Given the description of an element on the screen output the (x, y) to click on. 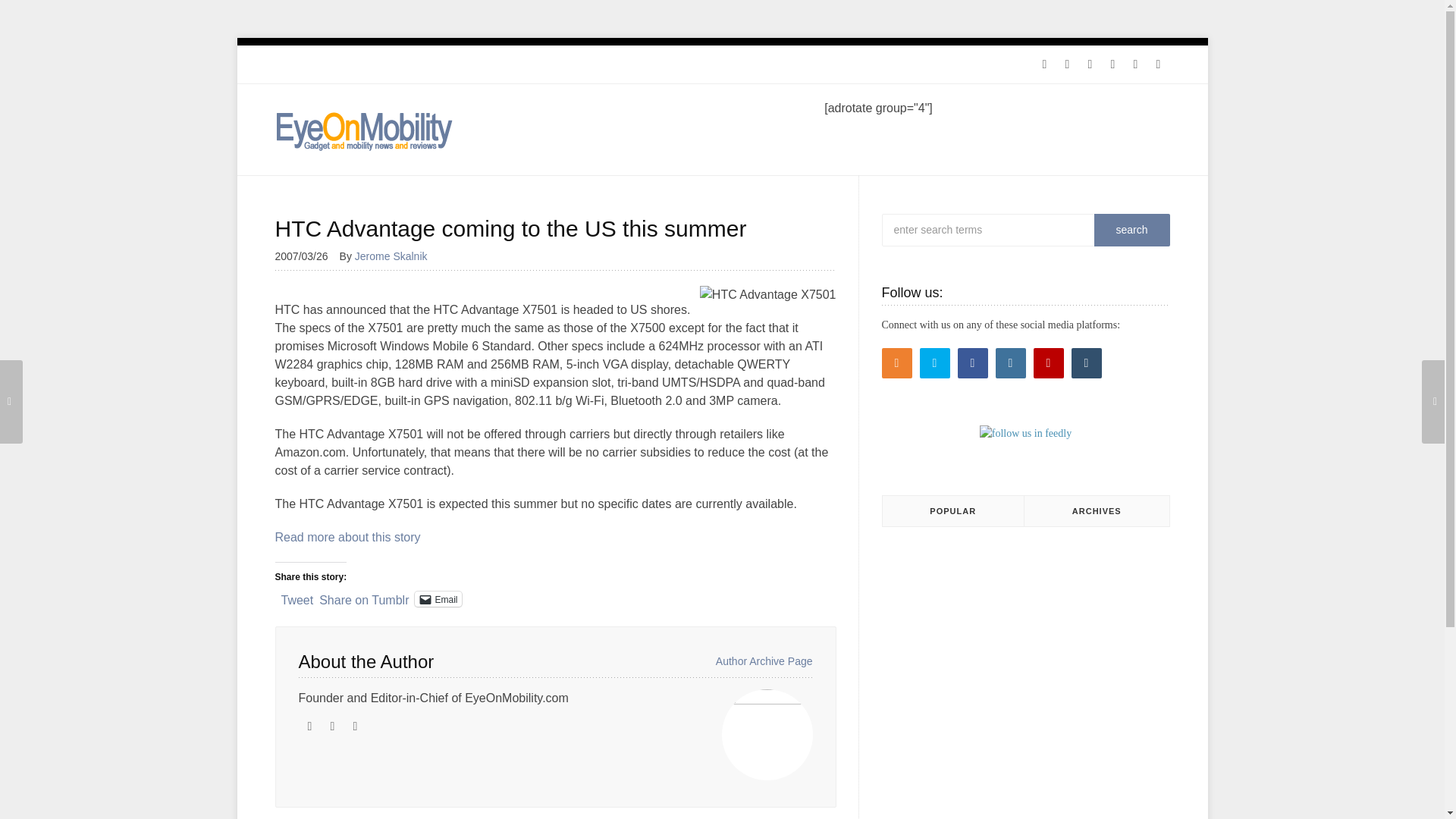
Jerome Skalnik's RSS Feed (332, 725)
Youtube (1135, 64)
POPULAR (953, 511)
EyeOnMobility (363, 129)
Enter Search Terms (1017, 229)
HTC Shift UMPC revealed (11, 401)
Email (437, 598)
Click to email a link to a friend (437, 598)
About Us (453, 64)
Guides (398, 64)
Search (1131, 229)
Search (1131, 229)
Tweet (297, 598)
Search (1131, 229)
Jerome Skalnik (397, 256)
